Given the description of an element on the screen output the (x, y) to click on. 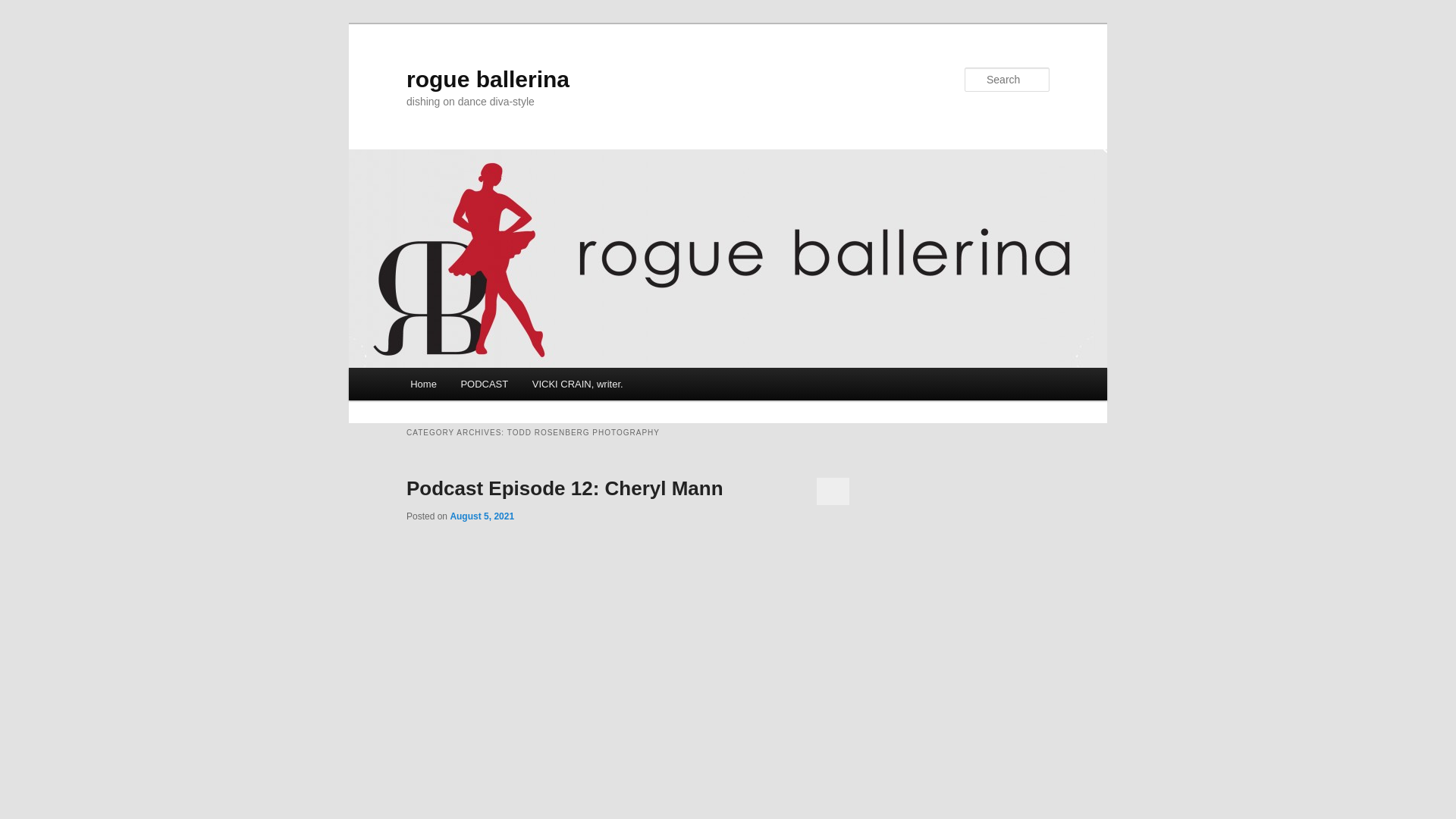
PODCAST (483, 383)
VICKI CRAIN, writer. (576, 383)
August 5, 2021 (481, 516)
rogue ballerina (487, 78)
11:12 am (481, 516)
Podcast Episode 12: Cheryl Mann (564, 487)
Search (24, 8)
Home (422, 383)
